Given the description of an element on the screen output the (x, y) to click on. 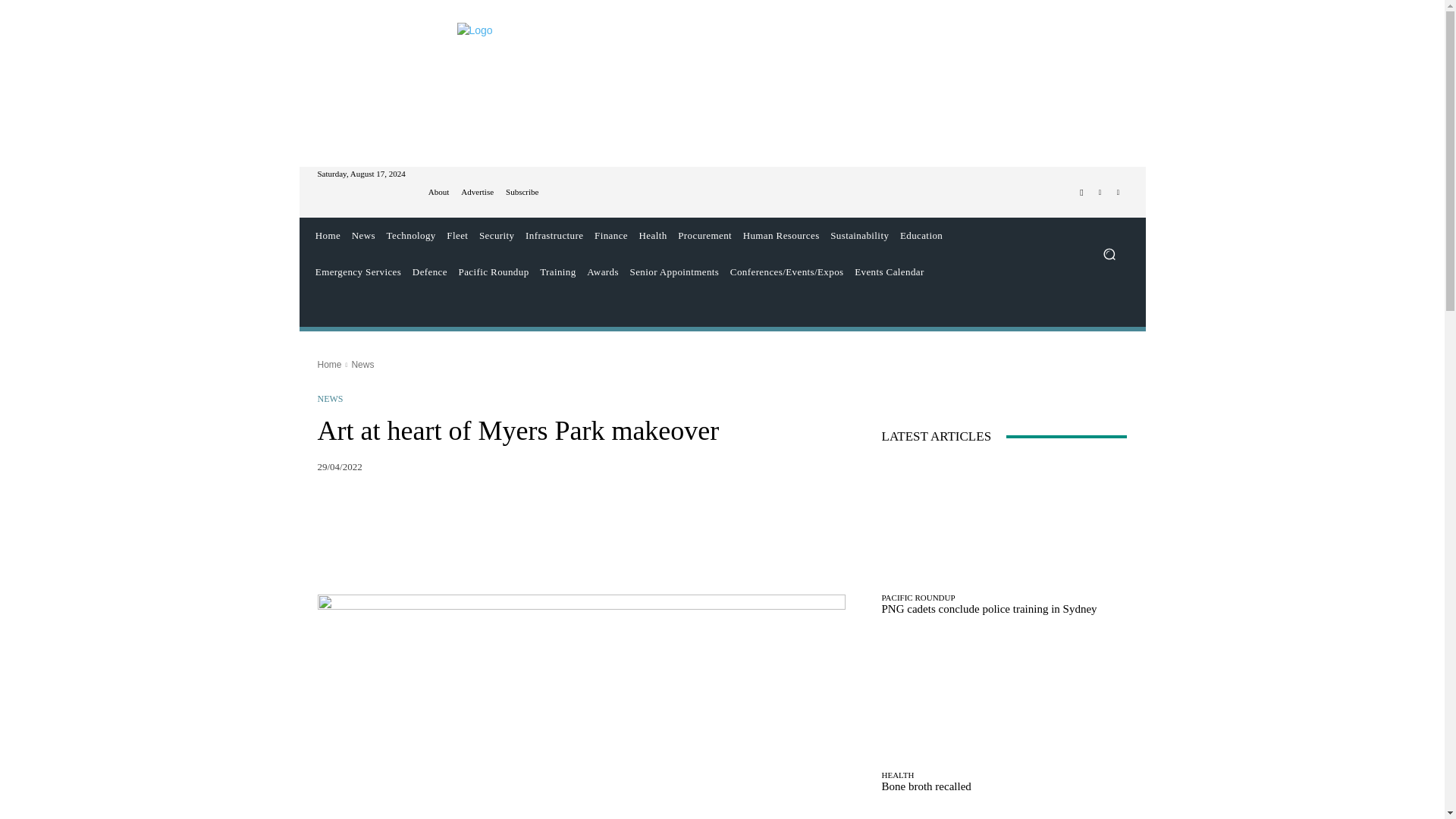
Fleet (457, 235)
Security (496, 235)
Sustainability (860, 235)
Home (327, 235)
Linkedin (1117, 192)
View all posts in News (362, 364)
Technology (410, 235)
Human Resources (780, 235)
Finance (611, 235)
Health (652, 235)
